Given the description of an element on the screen output the (x, y) to click on. 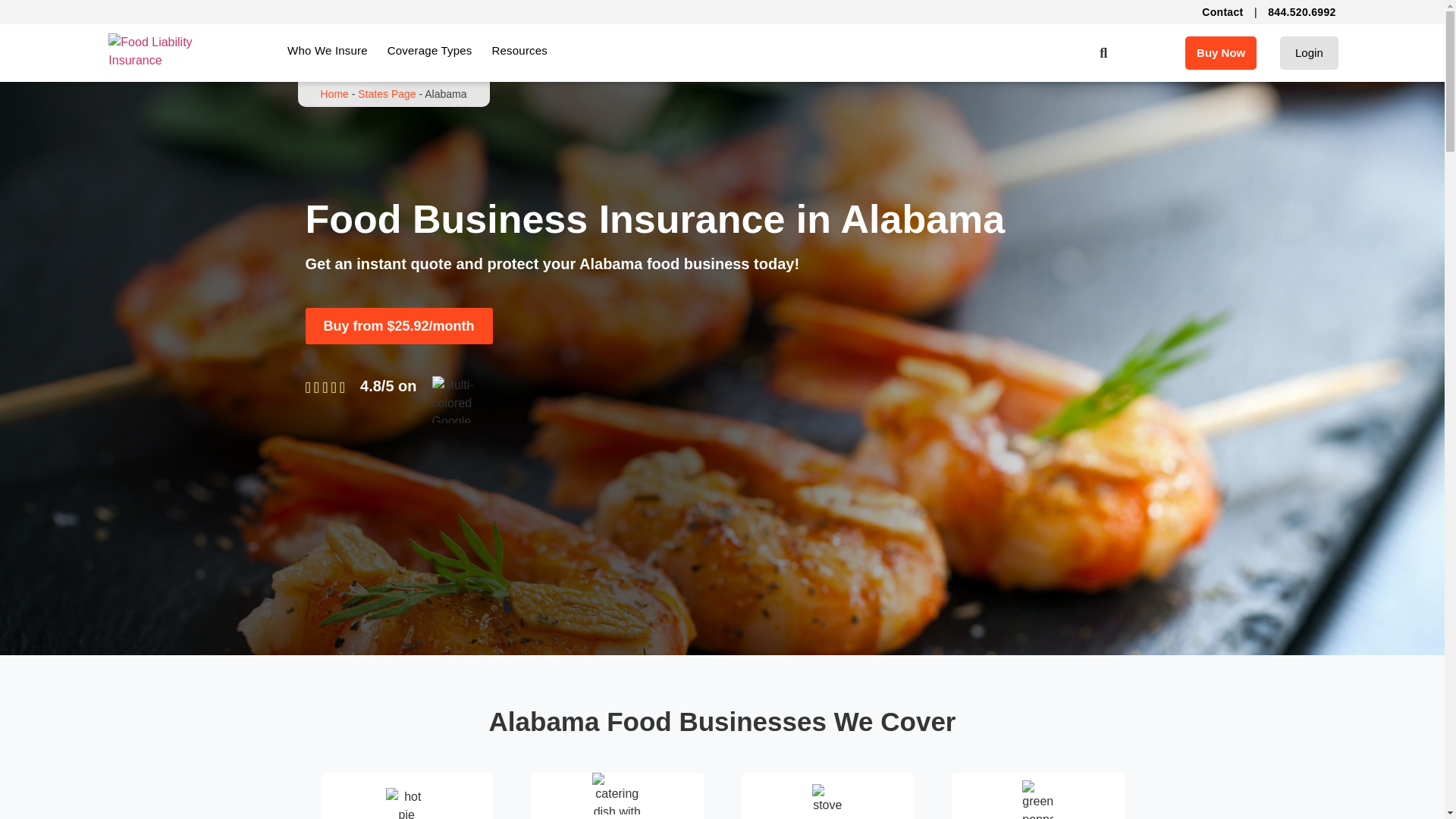
Who We Insure (327, 50)
Contact (1222, 11)
844.520.6992 (1301, 11)
